Given the description of an element on the screen output the (x, y) to click on. 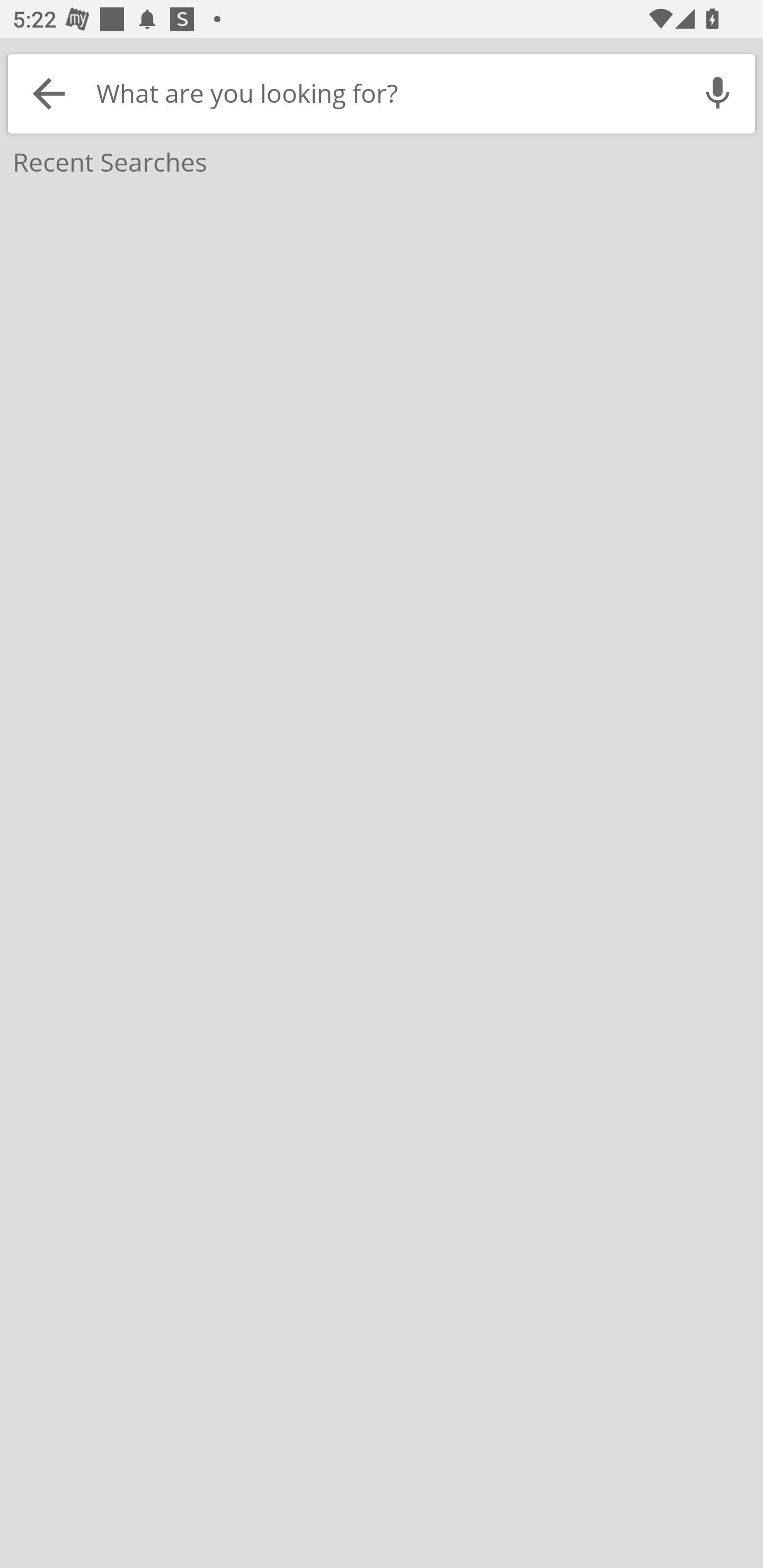
What are you looking for? (385, 93)
